Given the description of an element on the screen output the (x, y) to click on. 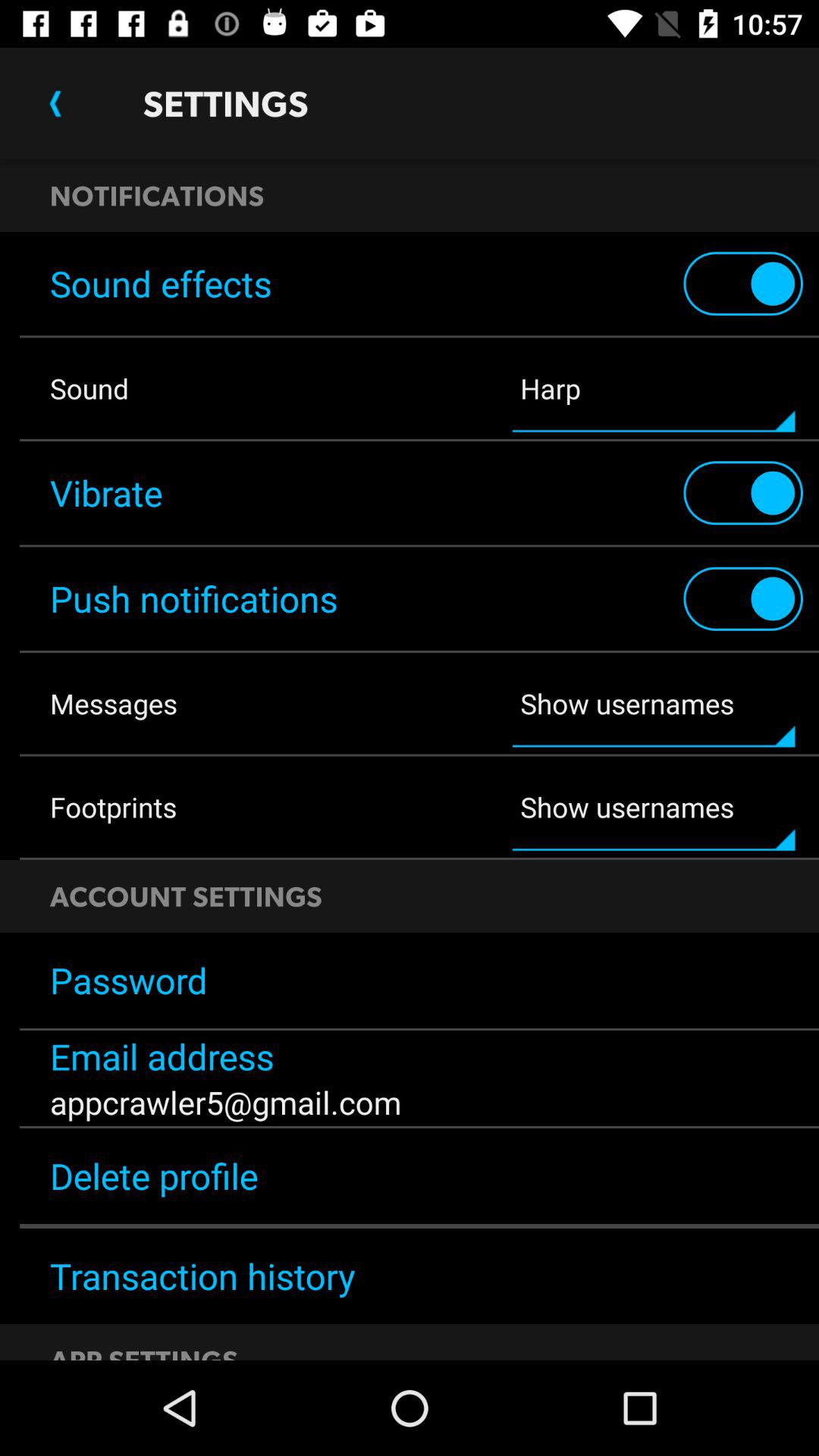
swipe until the harp (653, 388)
